Given the description of an element on the screen output the (x, y) to click on. 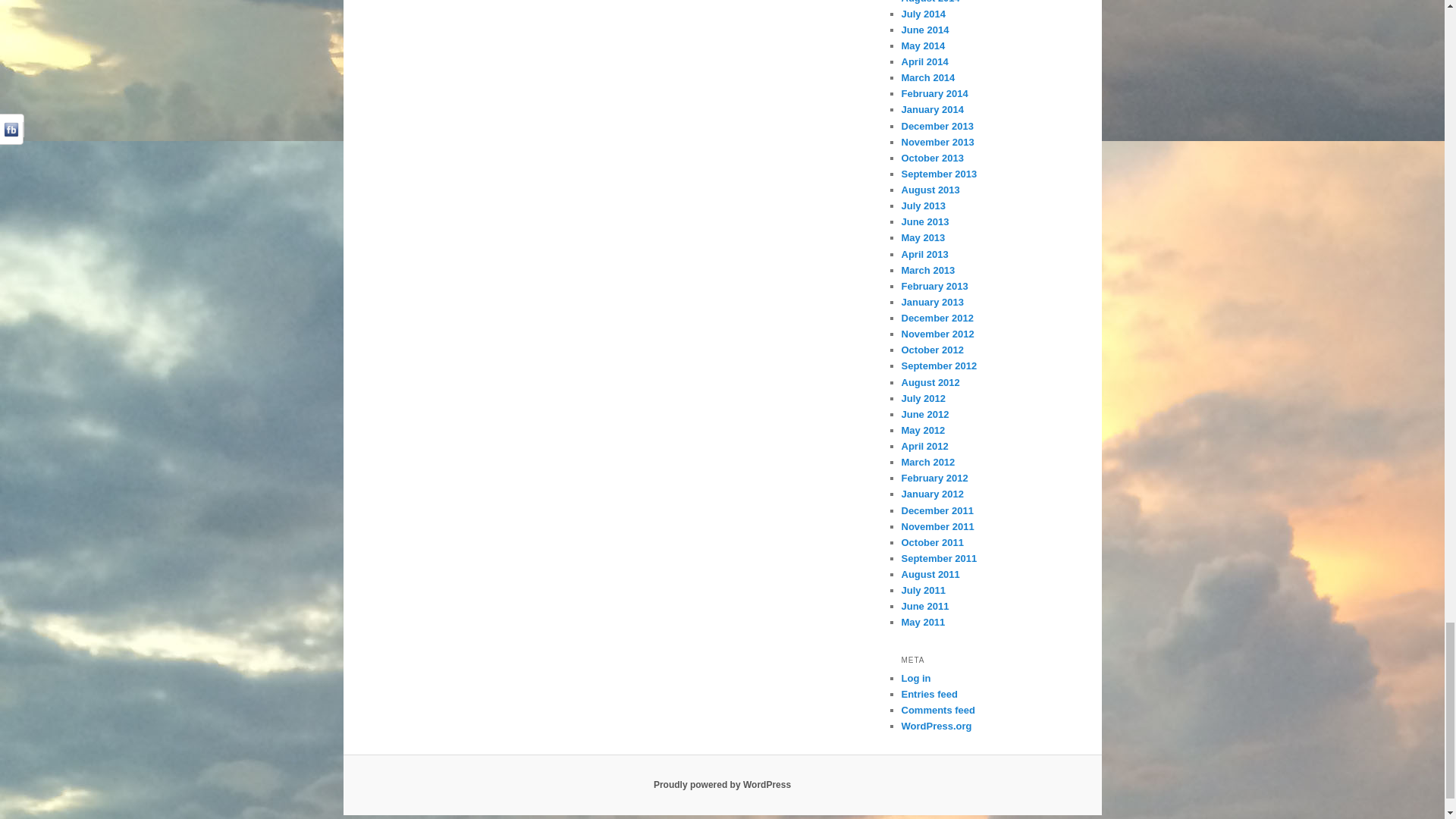
Semantic Personal Publishing Platform (721, 784)
